Given the description of an element on the screen output the (x, y) to click on. 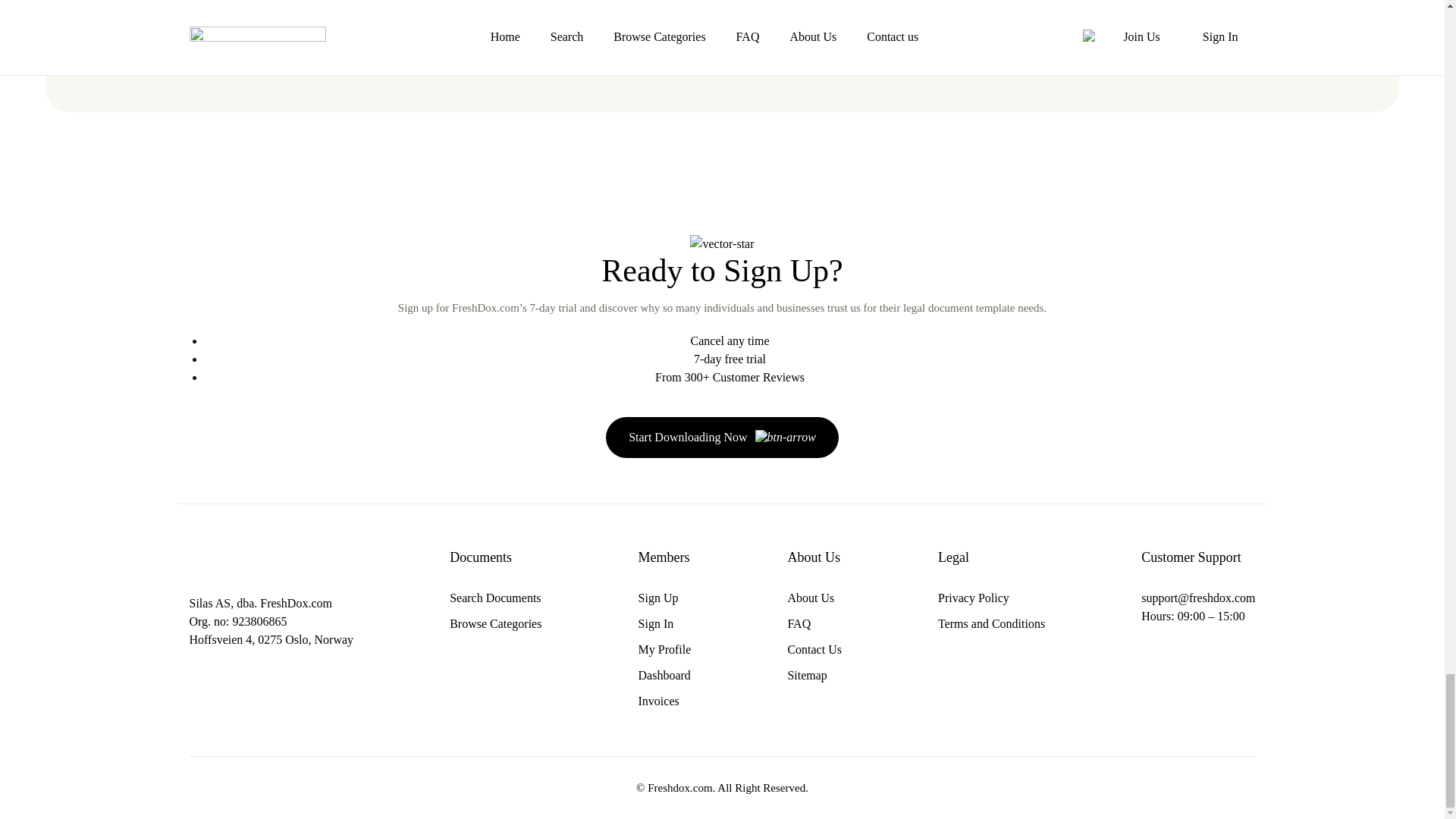
Start Downloading Now (721, 437)
